Given the description of an element on the screen output the (x, y) to click on. 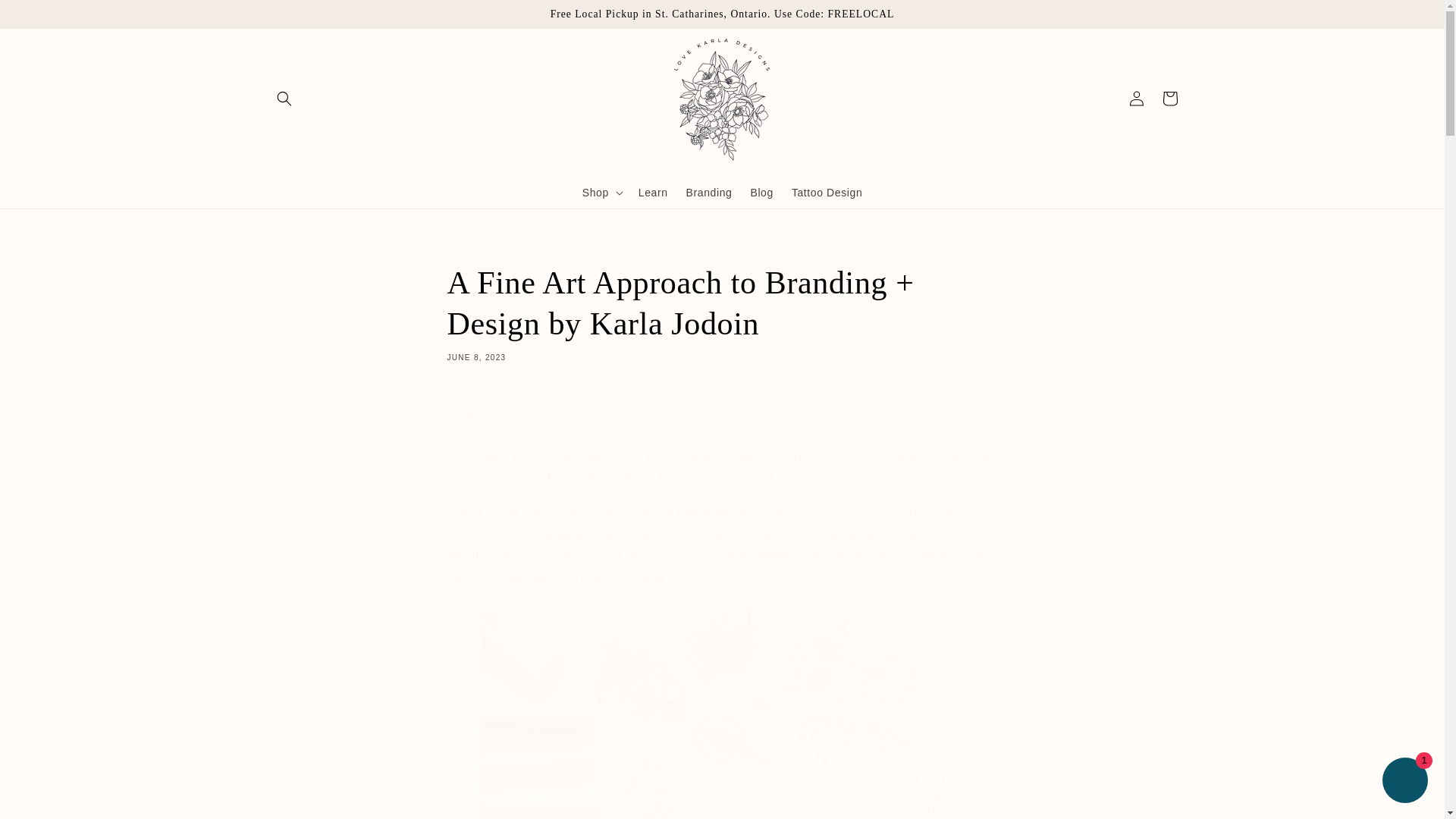
Cart (1169, 98)
Share (721, 417)
Log in (1136, 98)
Shopify online store chat (1404, 781)
Skip to content (45, 17)
Learn (652, 192)
Blog (761, 192)
Tattoo Design (826, 192)
Branding (709, 192)
